Given the description of an element on the screen output the (x, y) to click on. 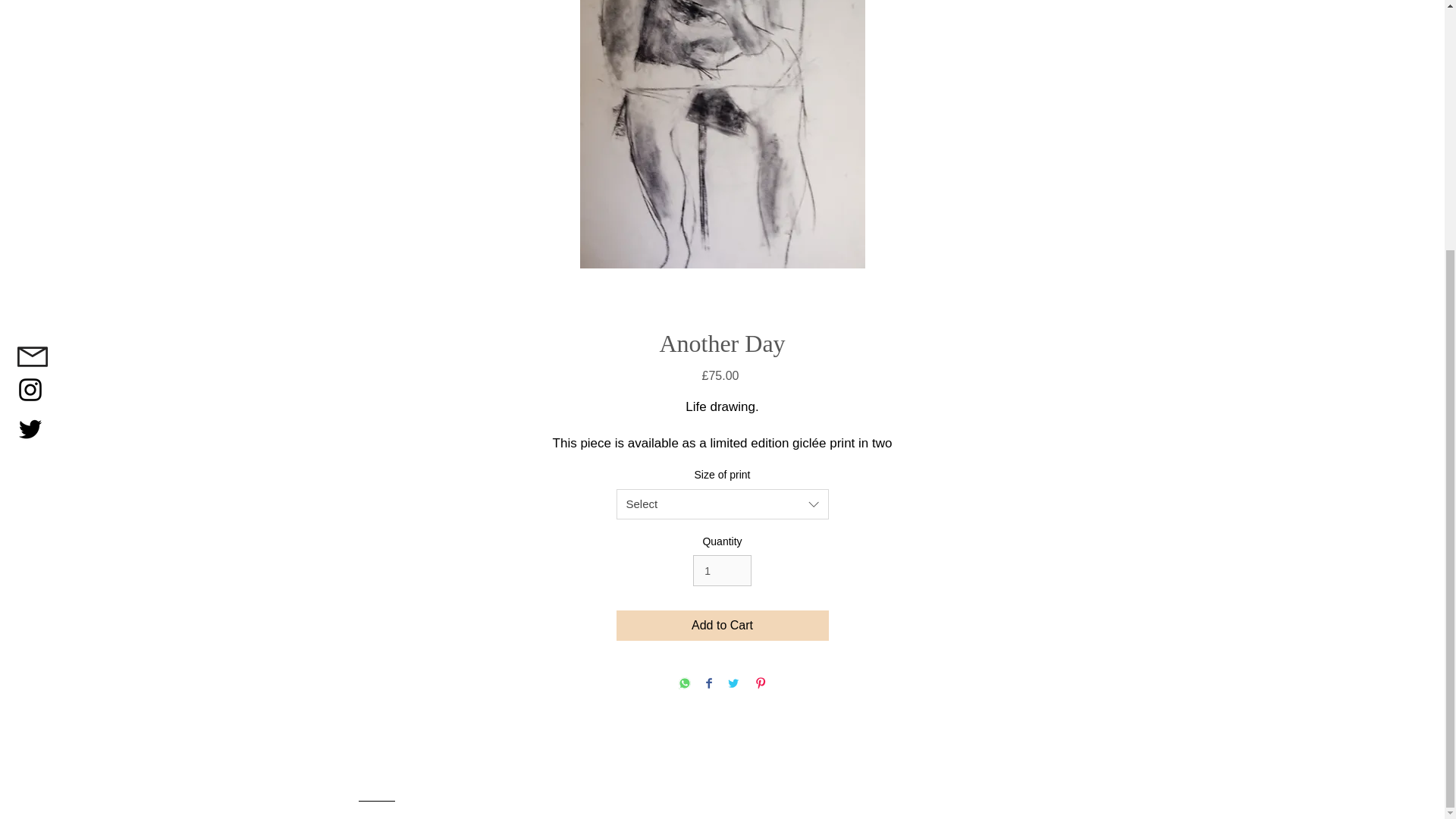
Select (721, 503)
Add to Cart (721, 625)
1 (722, 570)
